Given the description of an element on the screen output the (x, y) to click on. 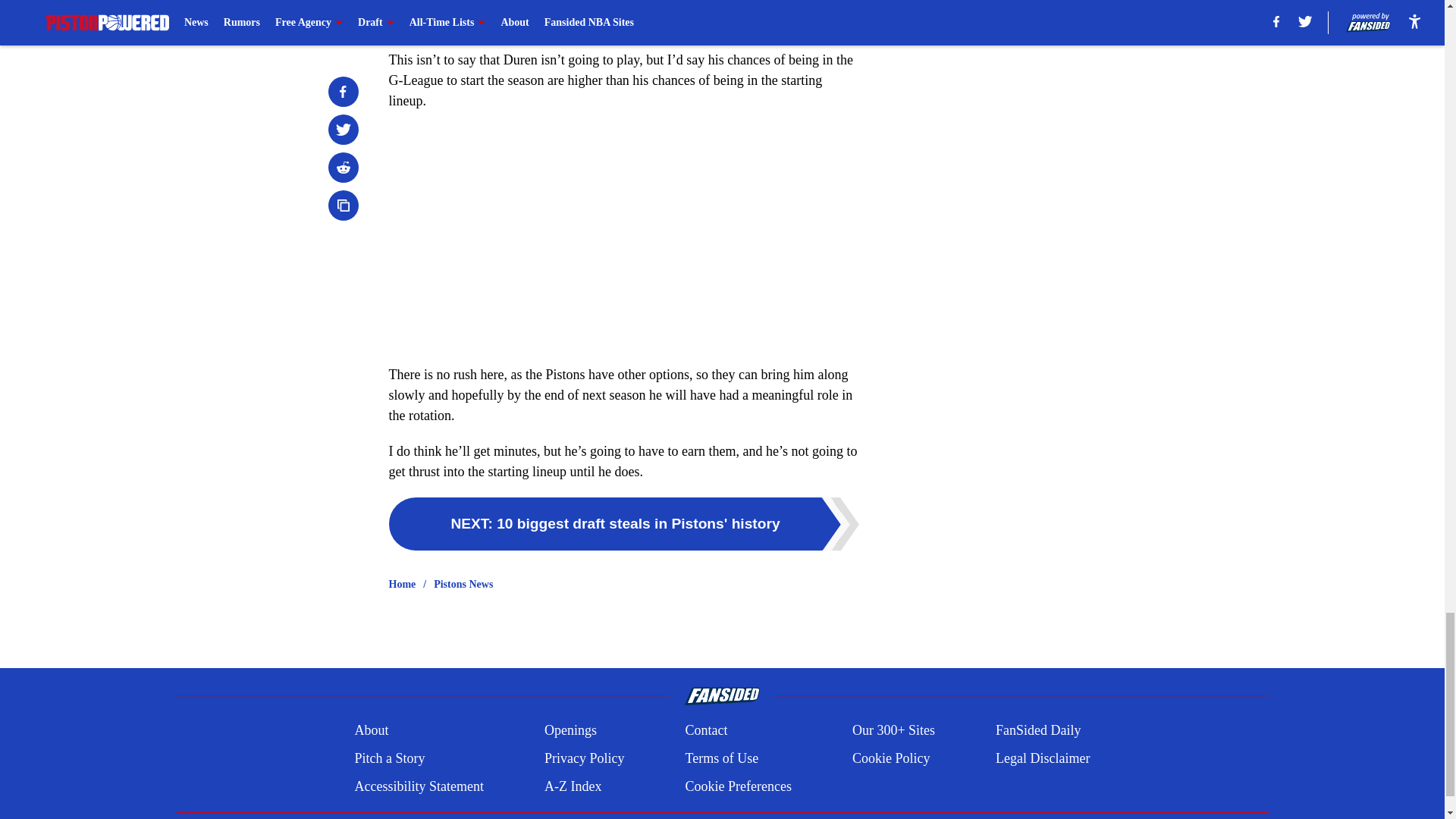
Home (401, 584)
NEXT: 10 biggest draft steals in Pistons' history (623, 523)
highlight reel dunks (707, 5)
